Given the description of an element on the screen output the (x, y) to click on. 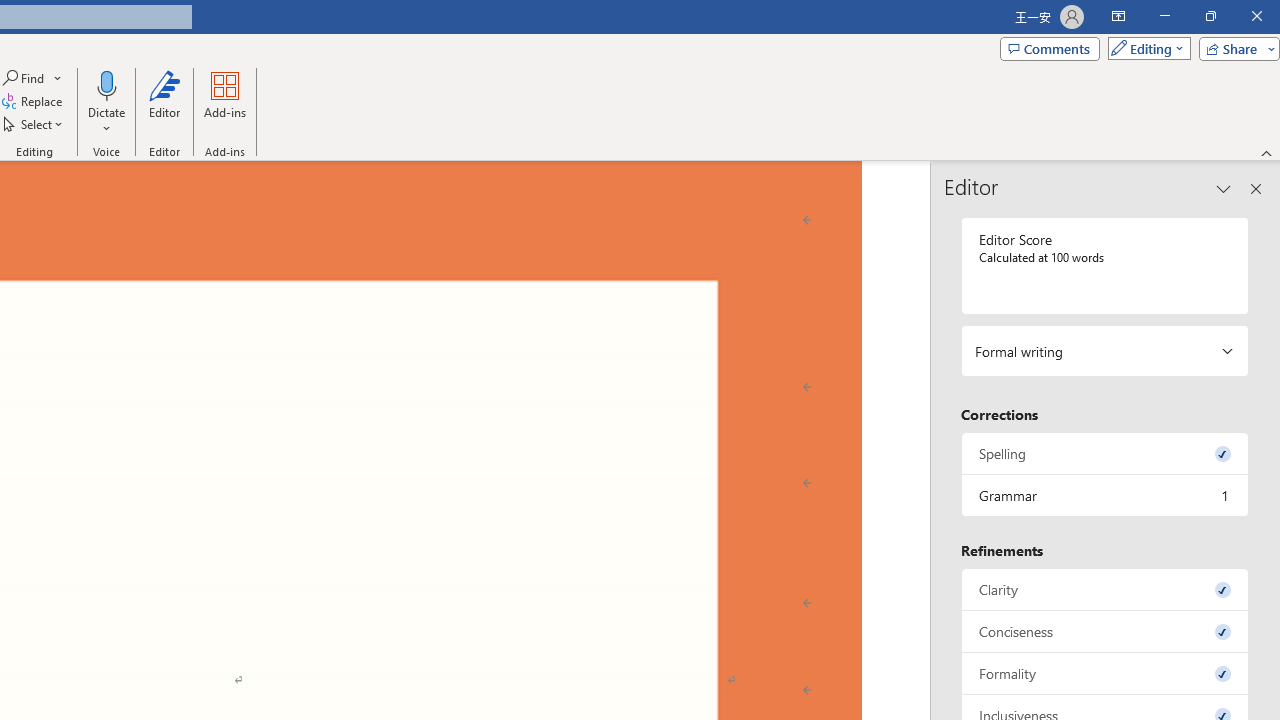
Editing (1144, 47)
Formality, 0 issues. Press space or enter to review items. (1105, 673)
Conciseness, 0 issues. Press space or enter to review items. (1105, 631)
Clarity, 0 issues. Press space or enter to review items. (1105, 588)
